Given the description of an element on the screen output the (x, y) to click on. 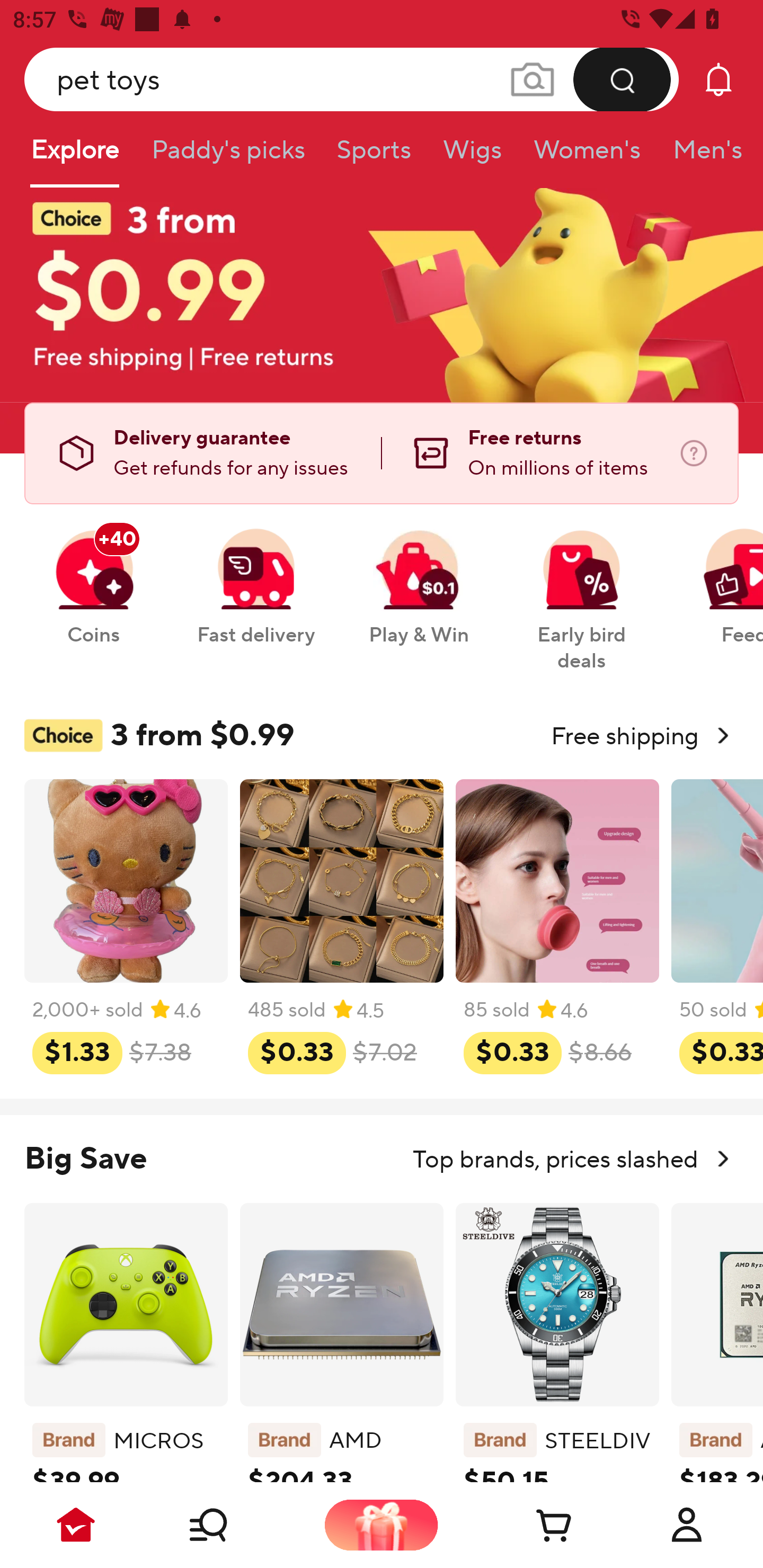
pet toys (351, 79)
Paddy's picks (227, 155)
Sports (373, 155)
Wigs (472, 155)
Women's (586, 155)
Men's (701, 155)
Coinsbutton +40 Coins (93, 576)
Fast deliverybutton Fast delivery (255, 576)
Play & Winbutton Play & Win (418, 576)
Early bird dealsbutton Early bird deals (581, 589)
Shop (228, 1524)
Cart (533, 1524)
Account (686, 1524)
